Given the description of an element on the screen output the (x, y) to click on. 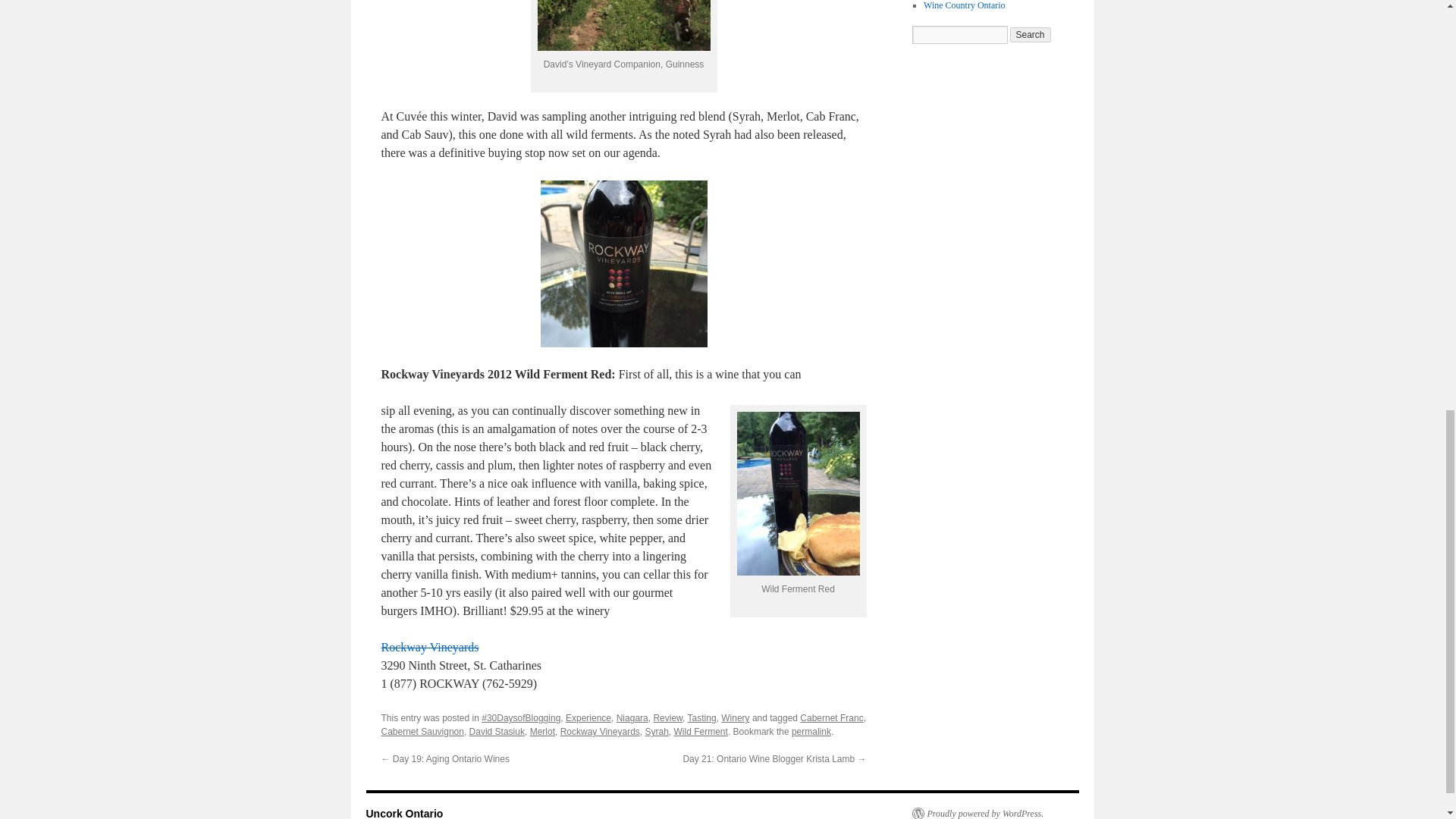
Cabernet Sauvignon (421, 731)
Niagara (631, 717)
Review (667, 717)
Permalink to Day 20: Wild Ferments at Rockway Vineyards (811, 731)
Merlot (541, 731)
Rockway Vineyards (429, 646)
Wild Ferment (701, 731)
Rockway Vineyards (600, 731)
David Stasiuk (496, 731)
Experience (588, 717)
Cabernet Franc (831, 717)
Winery (734, 717)
Tasting (701, 717)
Syrah (656, 731)
permalink (811, 731)
